Given the description of an element on the screen output the (x, y) to click on. 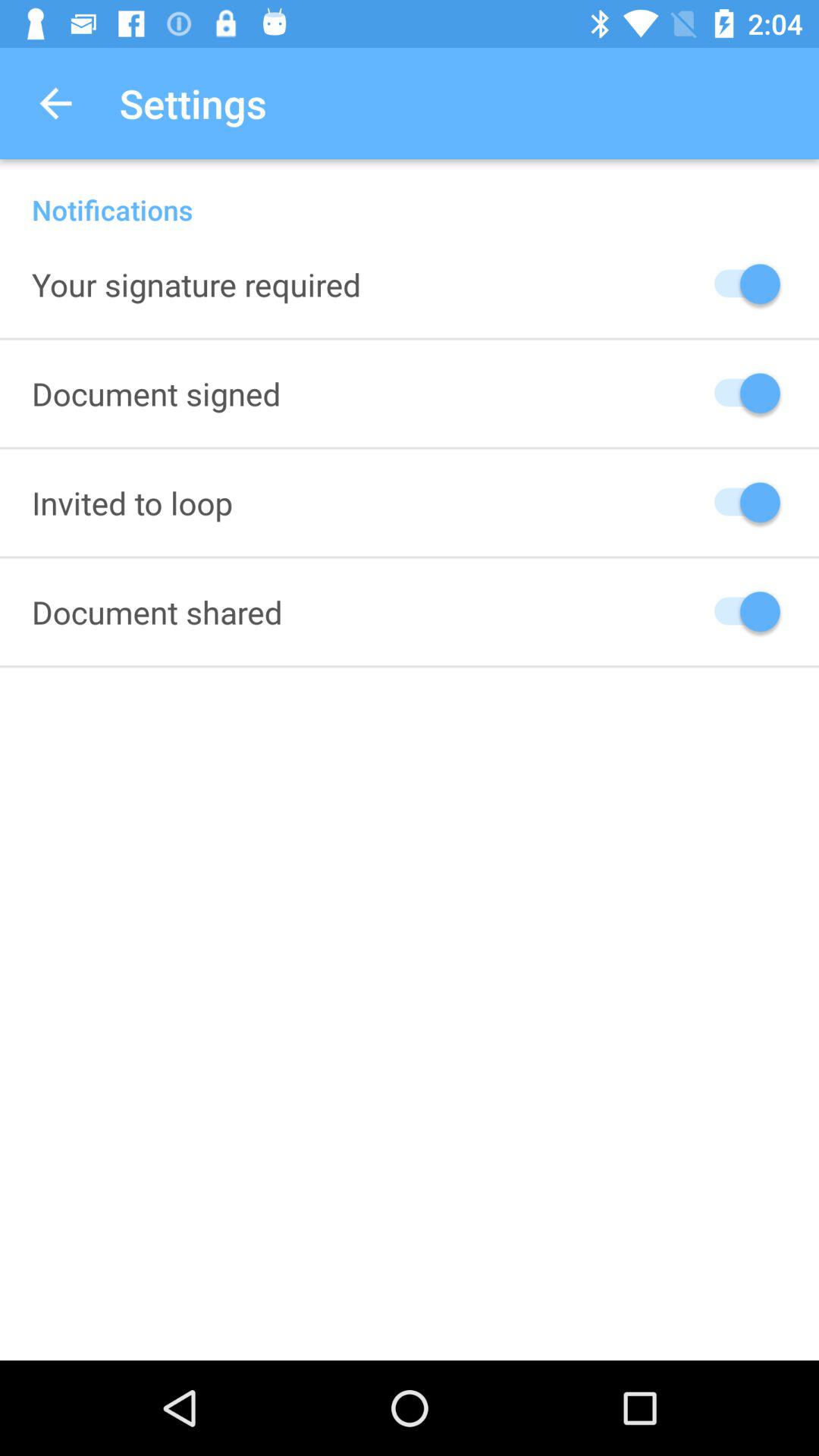
click the icon below the document signed icon (131, 502)
